Given the description of an element on the screen output the (x, y) to click on. 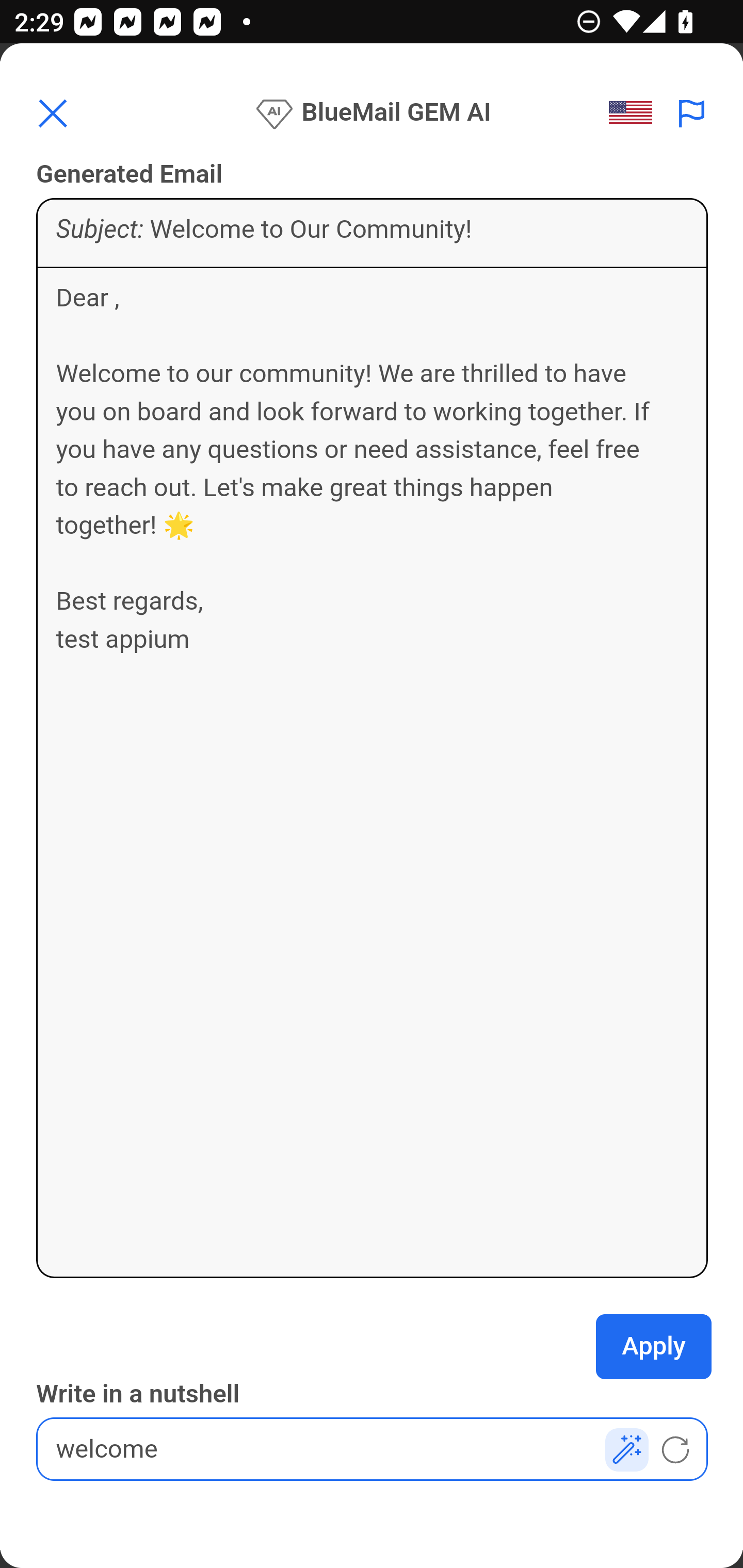
svg%3e (636, 113)
Report (692, 113)
Apply (654, 1346)
welcome (372, 1449)
